Given the description of an element on the screen output the (x, y) to click on. 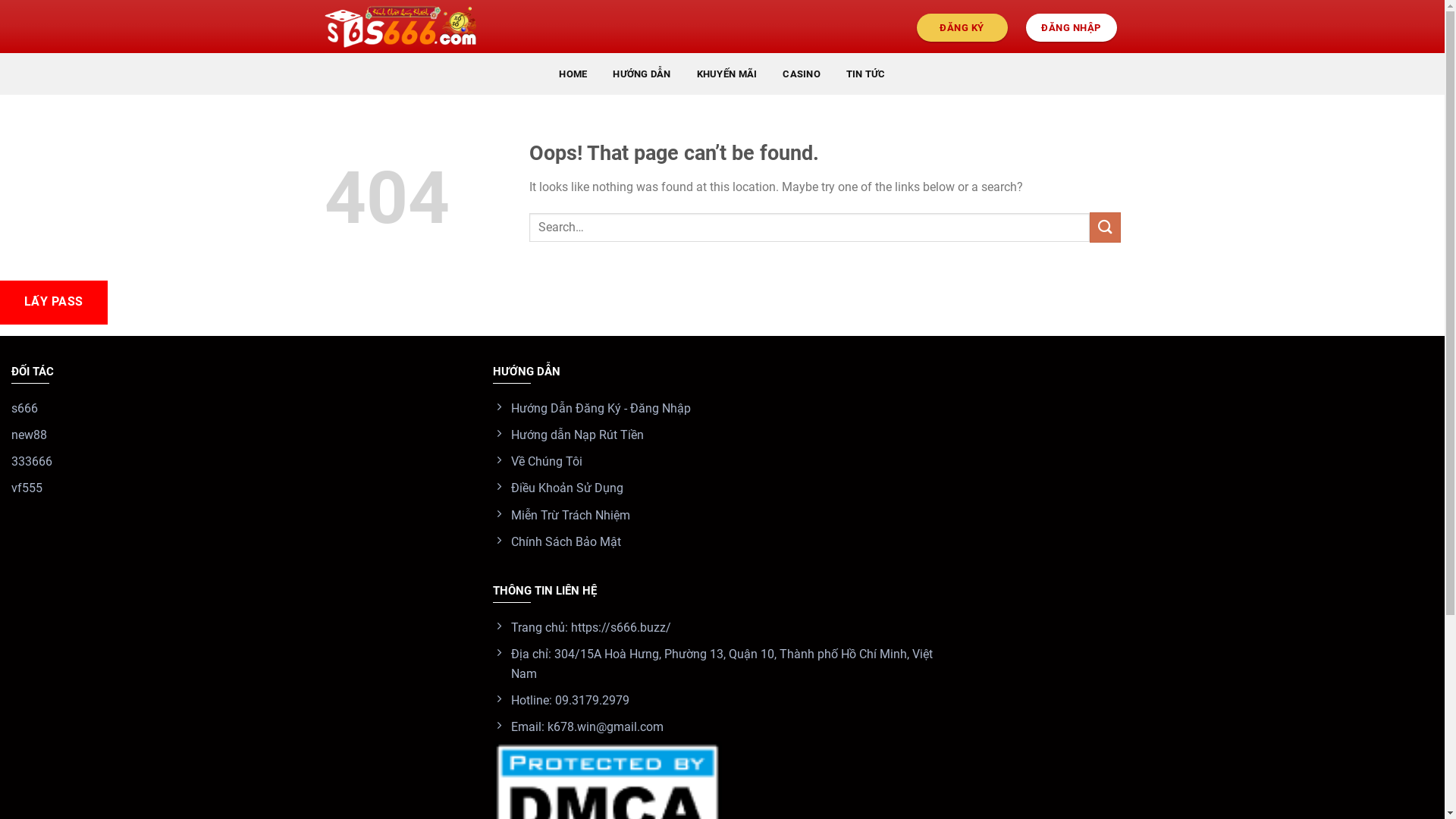
Hotline: 09.3179.2979 Element type: text (721, 700)
s666 Element type: text (240, 408)
vf555 Element type: text (240, 488)
CASINO Element type: text (801, 73)
333666 Element type: text (240, 461)
HOME Element type: text (572, 73)
new88 Element type: text (240, 434)
Email: k678.win@gmail.com Element type: text (721, 726)
